Given the description of an element on the screen output the (x, y) to click on. 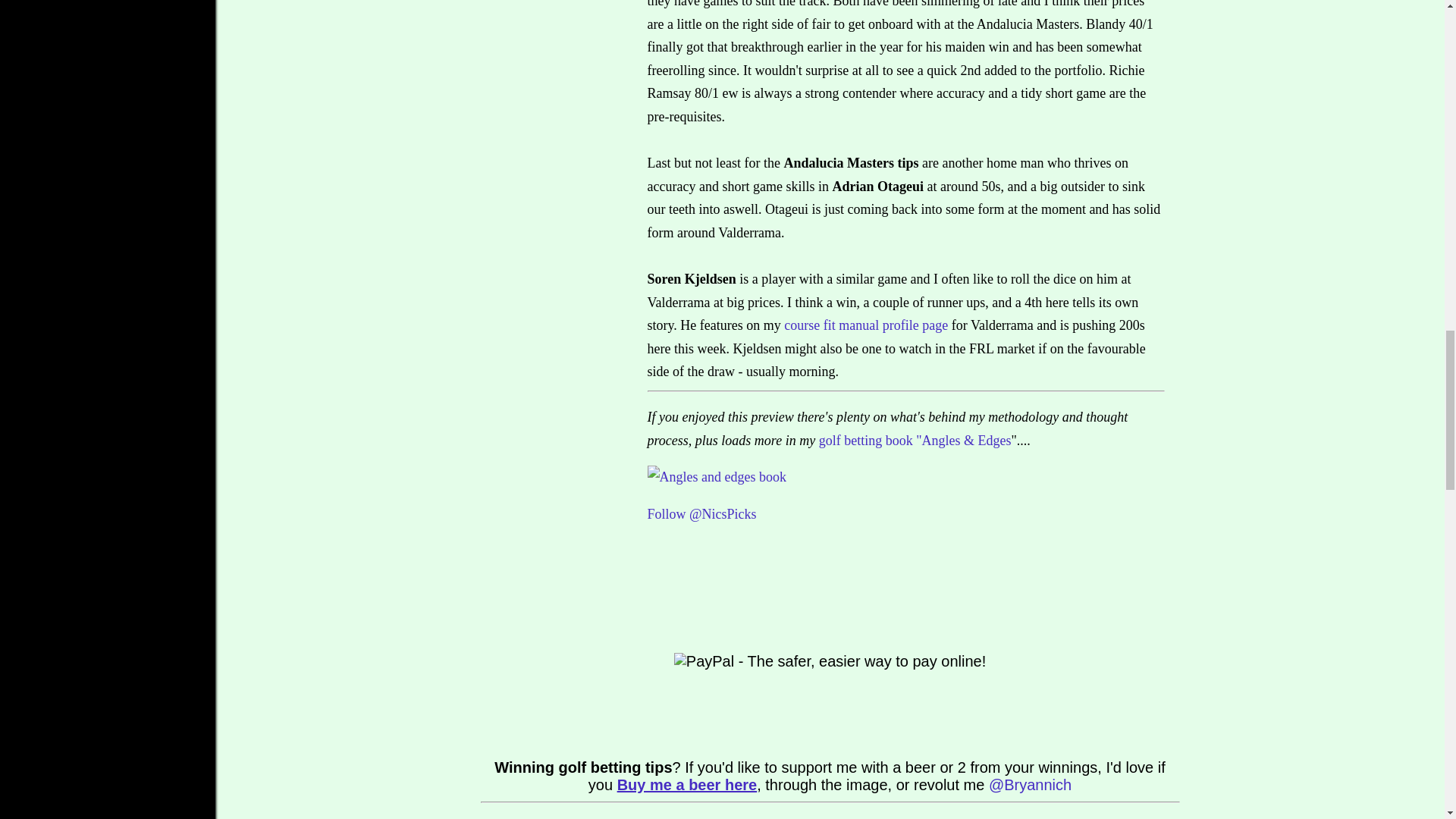
Buy me a beer here (687, 784)
course fit manual profile page (865, 324)
